Given the description of an element on the screen output the (x, y) to click on. 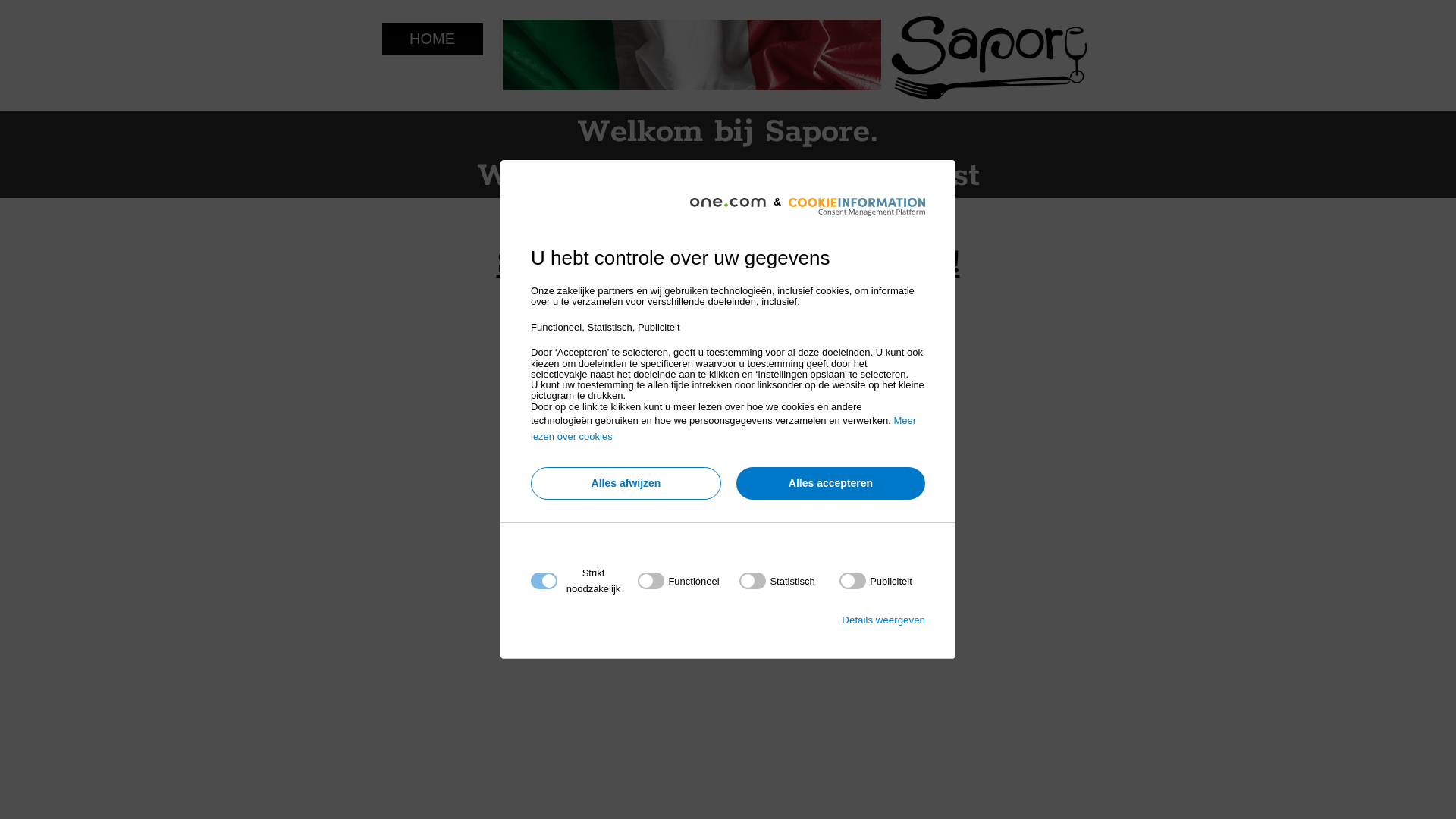
Alles afwijzen Element type: text (625, 483)
Strikt noodzakelijk Element type: text (723, 673)
HOME Element type: text (432, 38)
Meer lezen over cookies Element type: text (723, 428)
on Element type: text (875, 580)
on Element type: text (677, 580)
Alles accepteren Element type: text (830, 483)
on Element type: text (776, 580)
Functioneel Element type: text (723, 763)
Details weergeven Element type: text (883, 619)
